Given the description of an element on the screen output the (x, y) to click on. 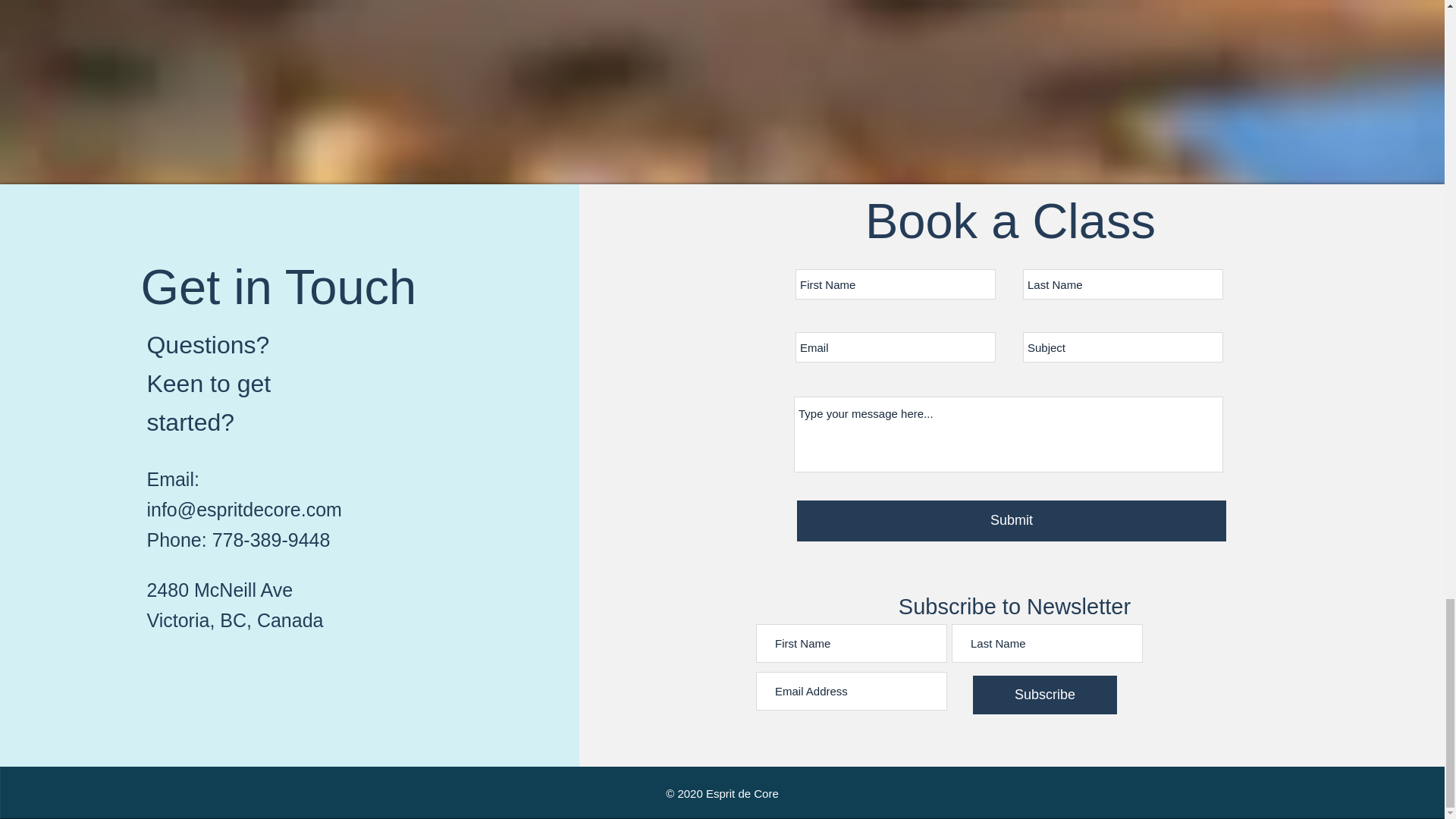
Submit (1010, 520)
Subscribe (1044, 694)
